Given the description of an element on the screen output the (x, y) to click on. 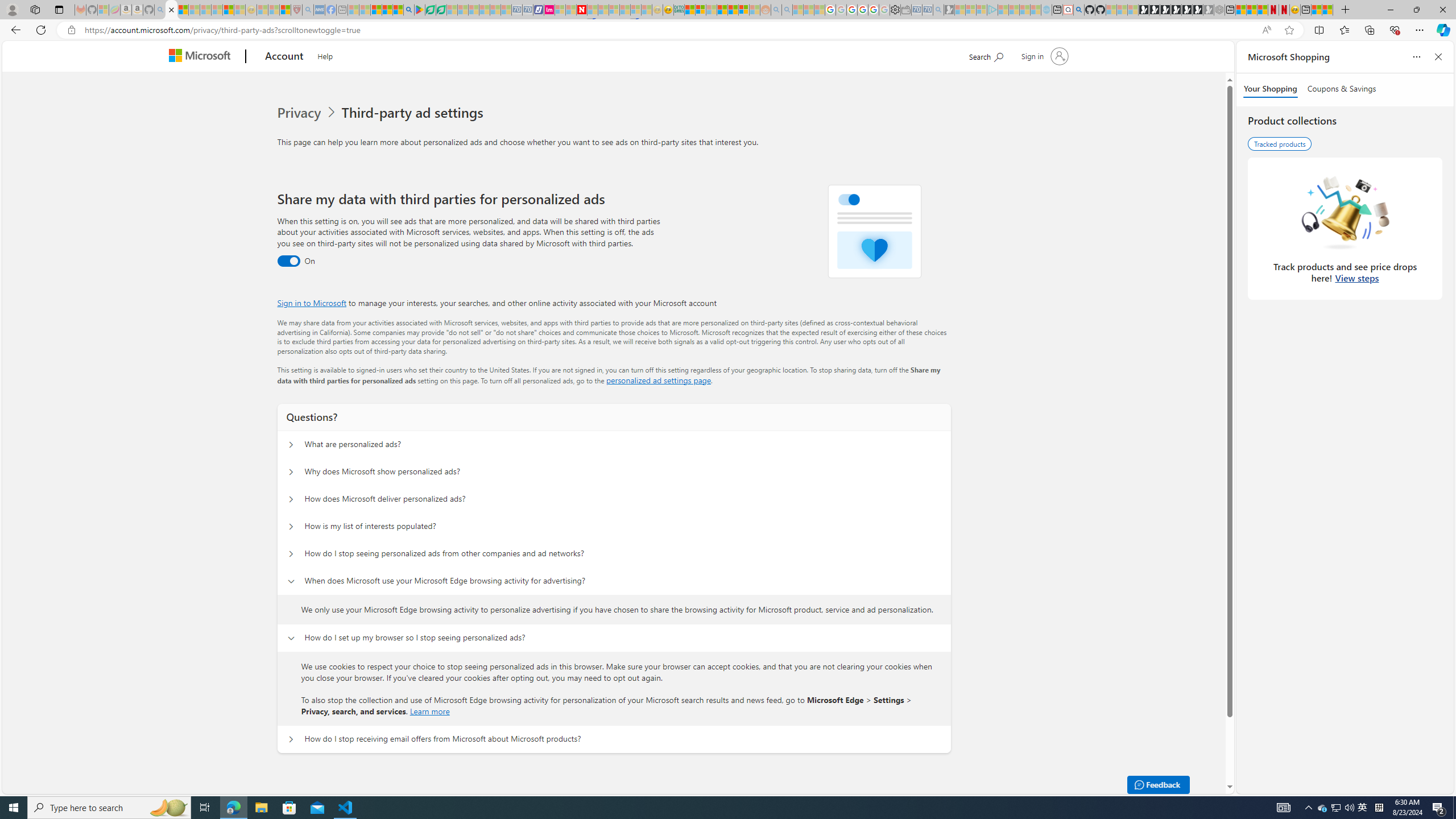
Utah sues federal government - Search - Sleeping (787, 9)
14 Common Myths Debunked By Scientific Facts - Sleeping (602, 9)
Play Cave FRVR in your browser | Games from Microsoft Start (1164, 9)
google - Search (408, 9)
Terms of Use Agreement (430, 9)
Search Microsoft.com (986, 54)
